Given the description of an element on the screen output the (x, y) to click on. 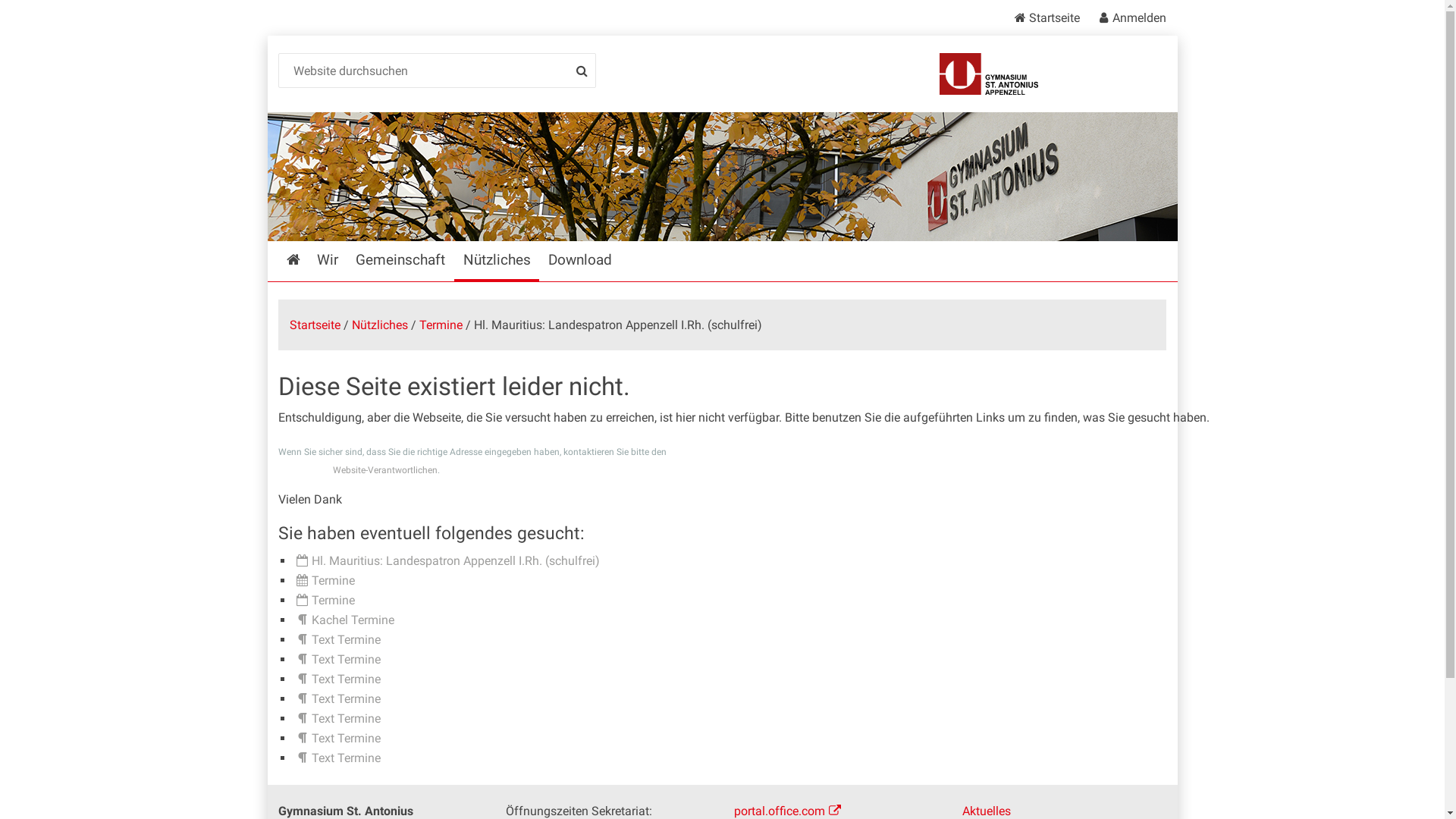
Website durchsuchen Element type: hover (437, 70)
Text Termine Element type: text (336, 659)
Text Termine Element type: text (336, 738)
Text Termine Element type: text (336, 718)
Termine Element type: text (440, 324)
Startseite Element type: text (1048, 17)
Hl. Mauritius: Landespatron Appenzell I.Rh. (schulfrei) Element type: text (446, 560)
Text Termine Element type: text (336, 757)
Text Termine Element type: text (336, 678)
Aktuelles Element type: text (986, 810)
Startseite Element type: text (314, 324)
Wir Element type: text (327, 261)
Anmelden Element type: text (1127, 17)
Termine Element type: text (323, 580)
Termine Element type: text (323, 600)
Gemeinschaft Element type: text (400, 261)
Website-Verantwortlichen Element type: text (384, 469)
Download Element type: text (579, 261)
portal.office.com Element type: text (787, 810)
Text Termine Element type: text (336, 639)
Startseite Element type: text (293, 261)
Kachel Termine Element type: text (343, 619)
Text Termine Element type: text (336, 698)
